Given the description of an element on the screen output the (x, y) to click on. 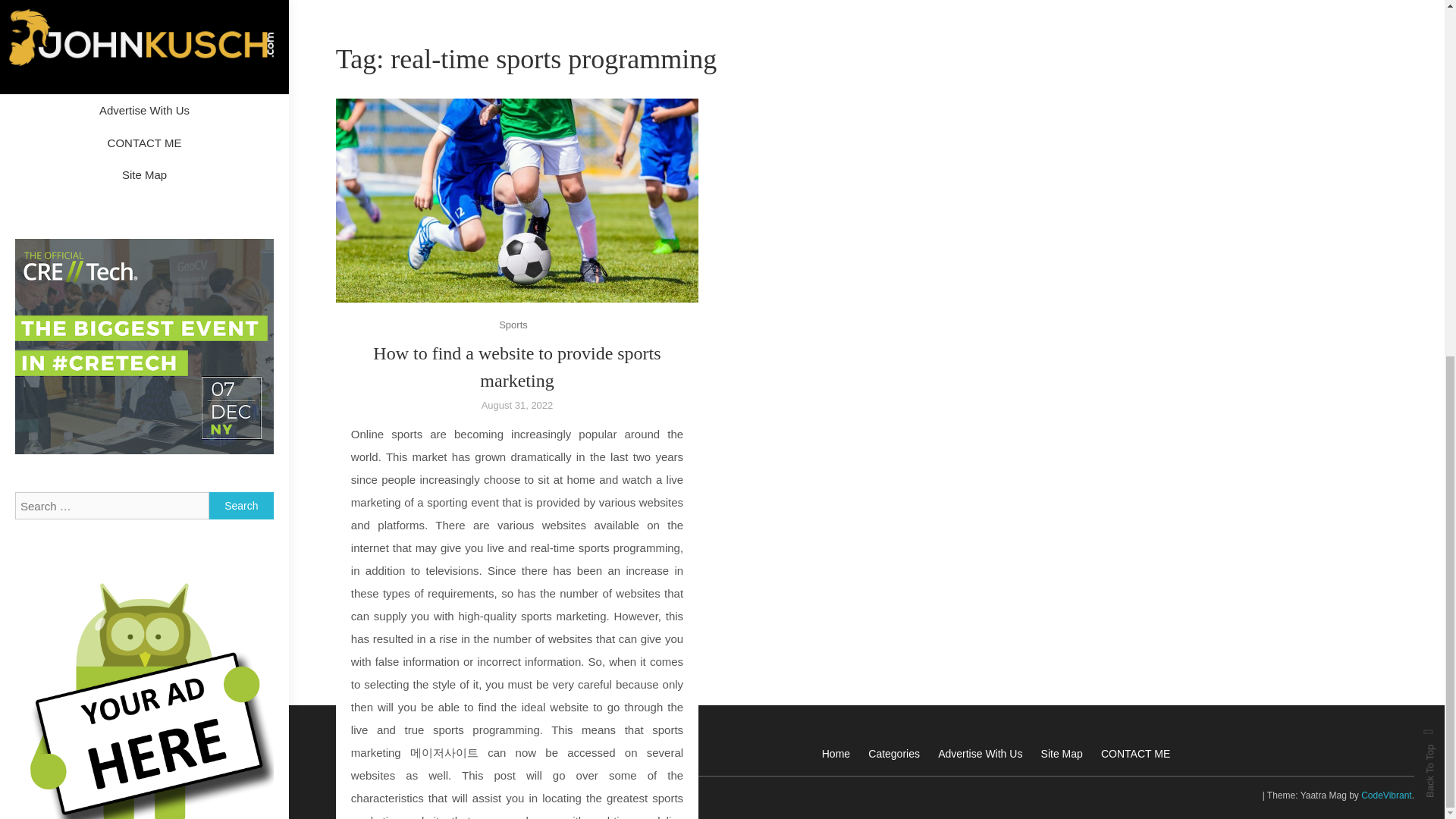
delta 8 flower (54, 387)
Estate automation (151, 476)
marijuana (175, 595)
Market a product (63, 625)
development (140, 387)
online business (114, 654)
Dress shopping (59, 446)
e-commerce application (176, 446)
automobile accident (70, 298)
money (39, 654)
Good Job (144, 536)
extensive systems (141, 505)
Business (163, 298)
Digital marketing (167, 417)
experience (49, 505)
